Given the description of an element on the screen output the (x, y) to click on. 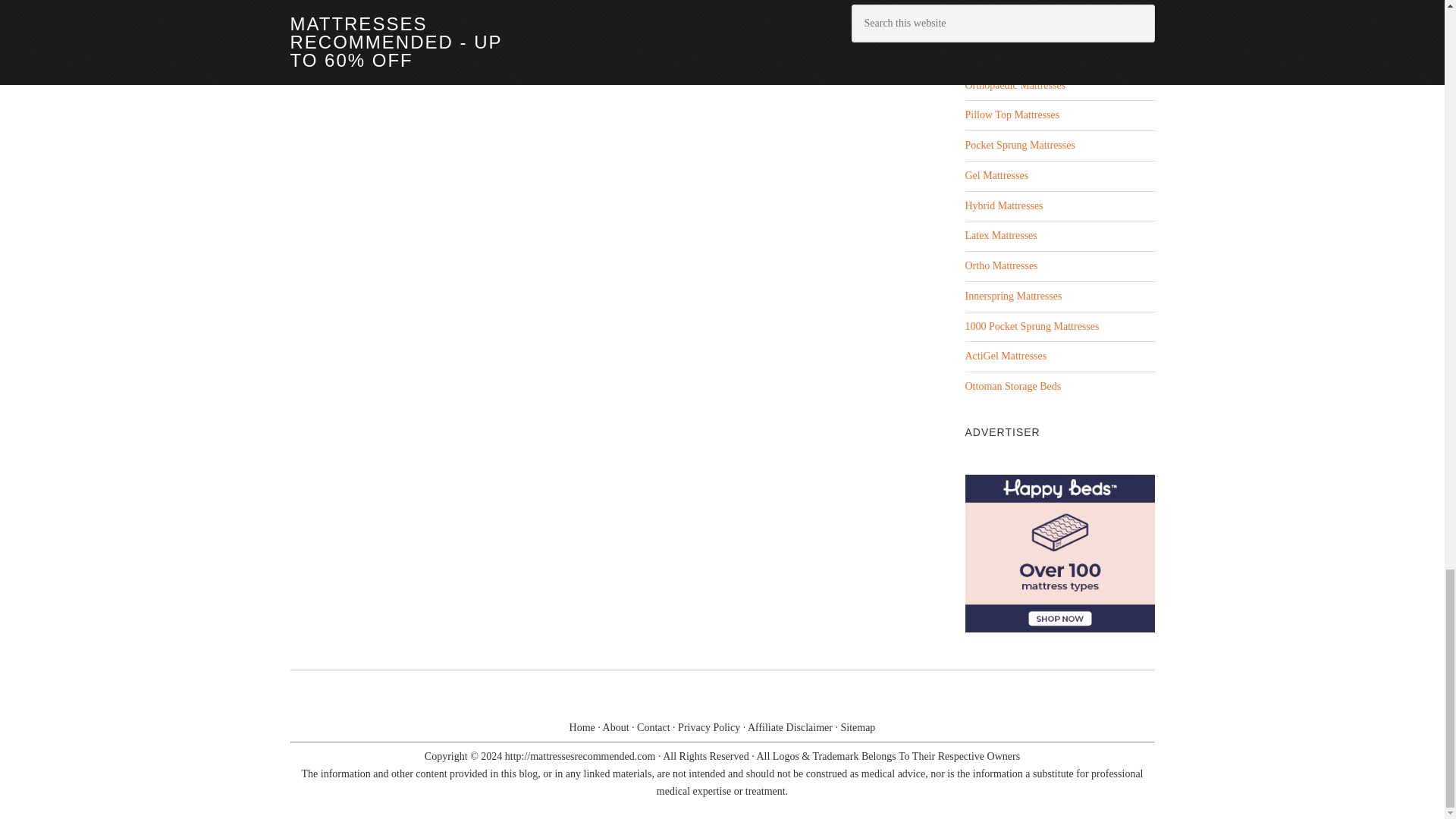
Hybrid Mattresses (1002, 205)
Innerspring Mattresses (1012, 296)
Gel Mattresses (995, 174)
Pillow Top Mattresses (1011, 114)
Latex Mattresses (999, 235)
Memory Foam Mattresses (1019, 54)
ActiGel Mattresses (1004, 355)
Pocket Sprung Mattresses (1018, 144)
Ottoman Storage Beds (1012, 386)
1000 Pocket Sprung Mattresses (1031, 326)
